Given the description of an element on the screen output the (x, y) to click on. 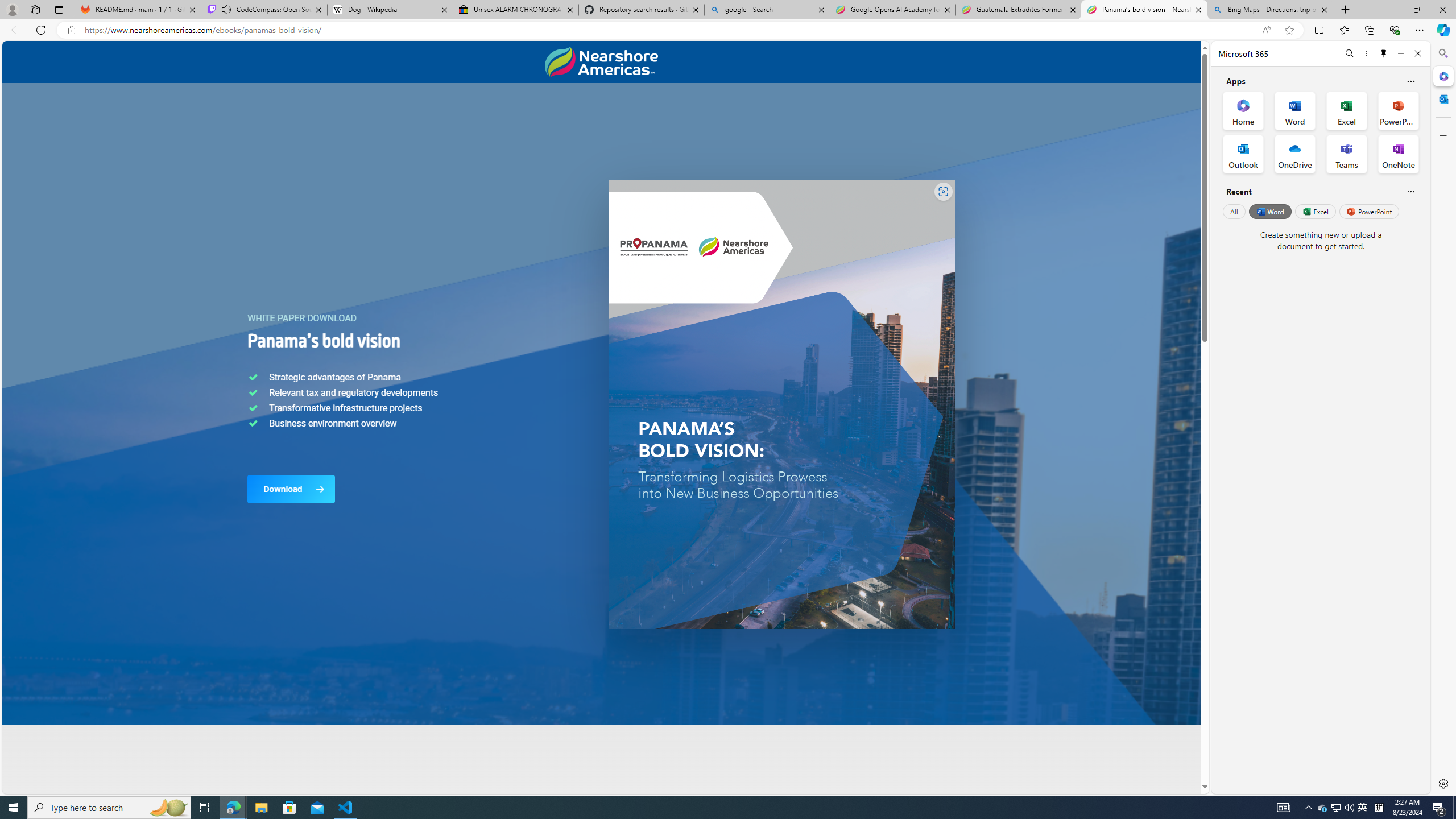
Side bar (1443, 418)
